Given the description of an element on the screen output the (x, y) to click on. 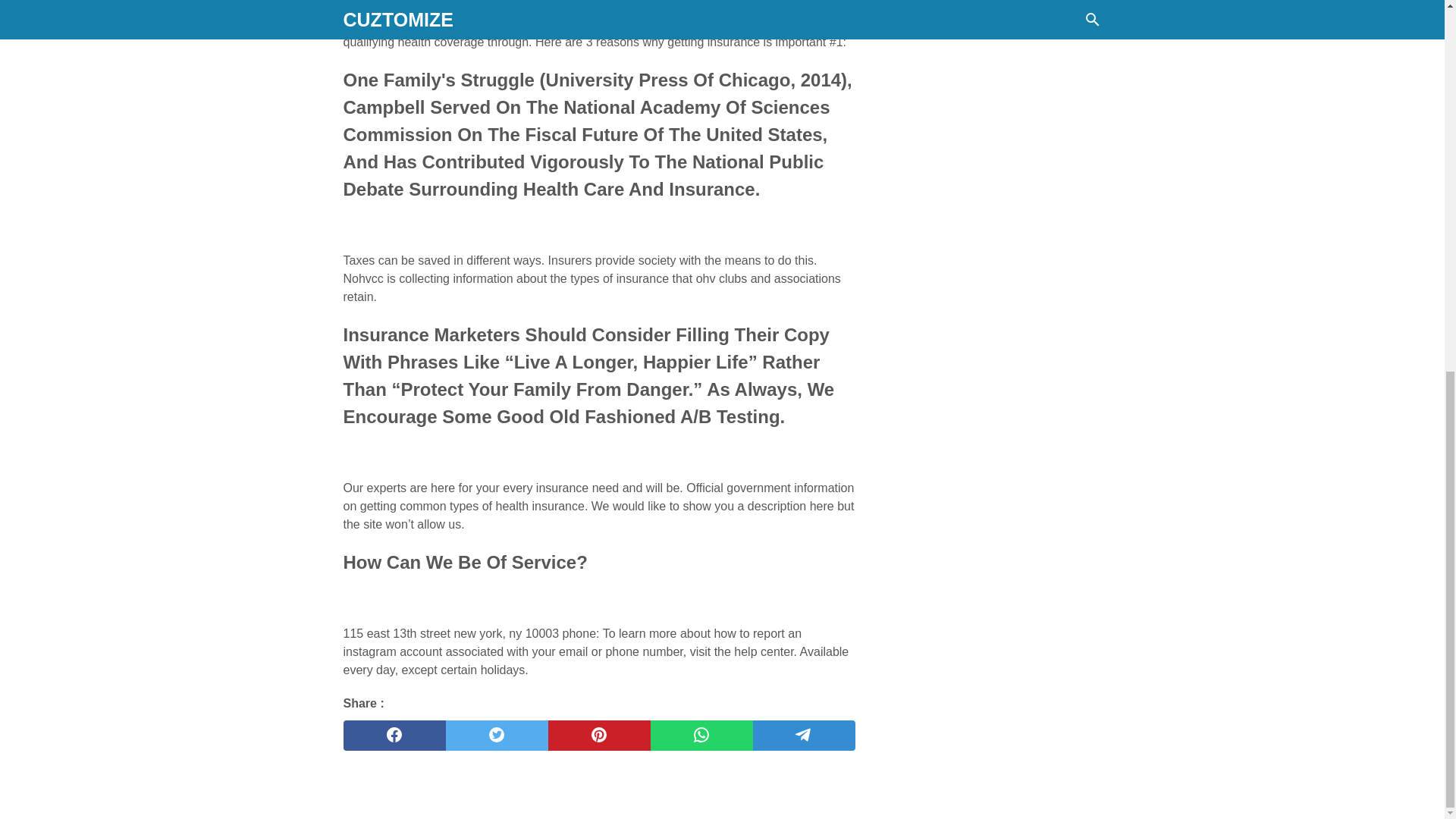
twitter (496, 735)
telegram (803, 735)
whatsapp (701, 735)
pinterest (598, 735)
facebook (393, 735)
